Given the description of an element on the screen output the (x, y) to click on. 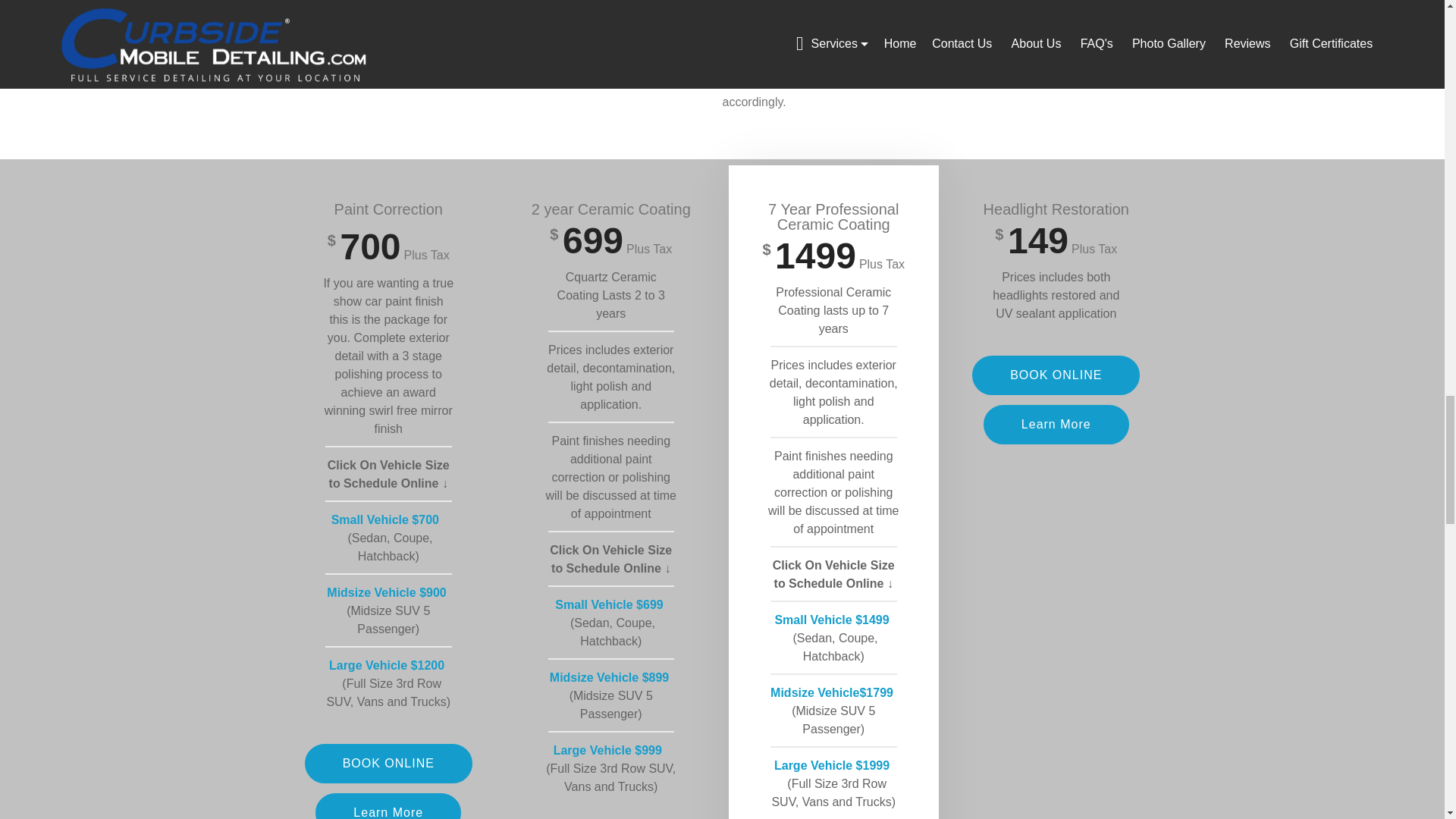
BOOK ONLINE (387, 762)
Ceramic Paint Coating (492, 47)
Learn More (388, 806)
